Given the description of an element on the screen output the (x, y) to click on. 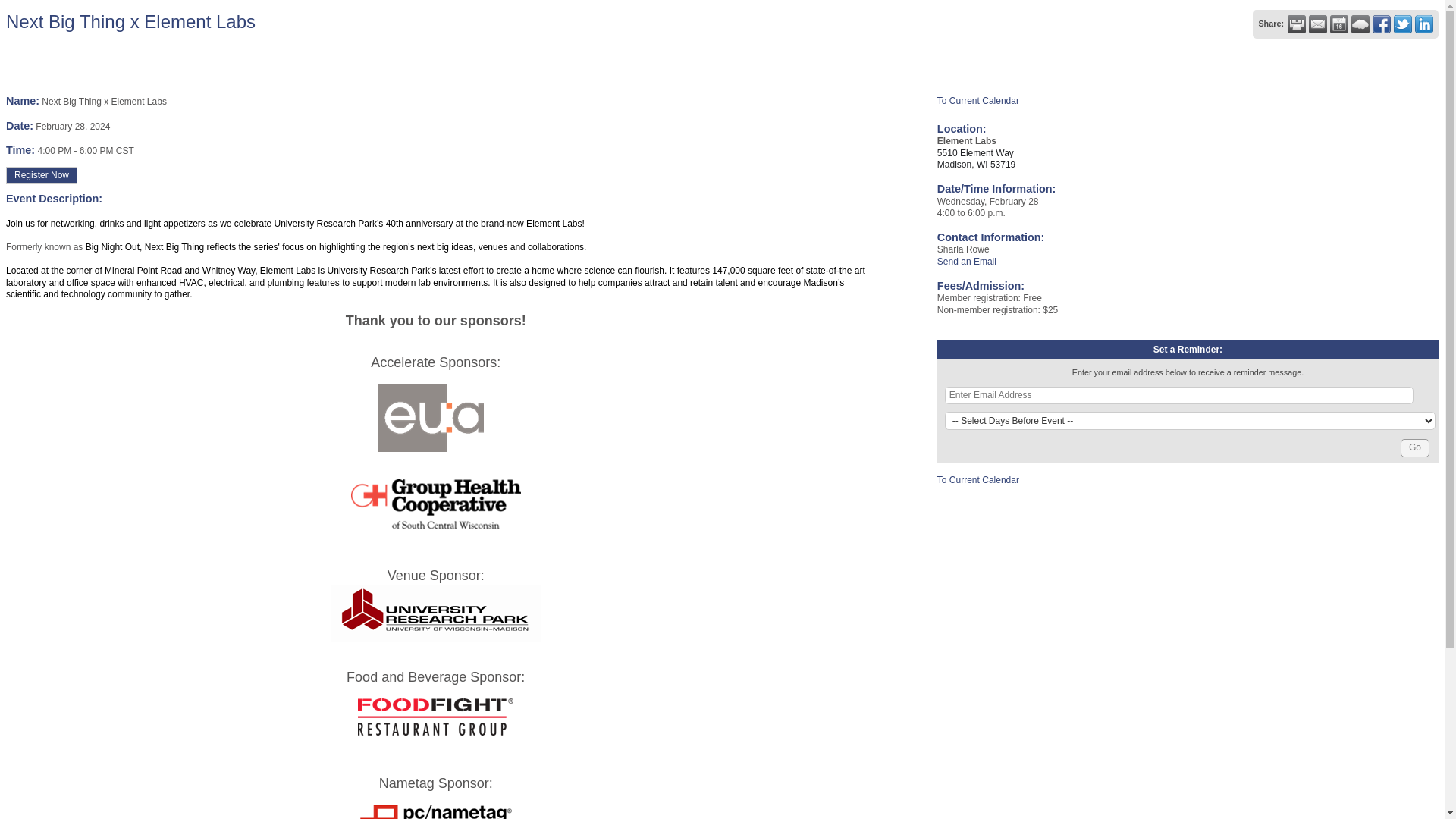
Share on Facebook (1381, 24)
Send an Email (966, 261)
Share on Twitter (1402, 24)
Add to Calendar (1339, 24)
View Current Weather (1360, 24)
Go (1414, 447)
Go (1414, 447)
Email to a Friend (1317, 24)
Register Now (41, 175)
To Current Calendar (978, 100)
Enter Email Address (1178, 395)
Print this Page (1296, 24)
To Current Calendar (978, 480)
